Given the description of an element on the screen output the (x, y) to click on. 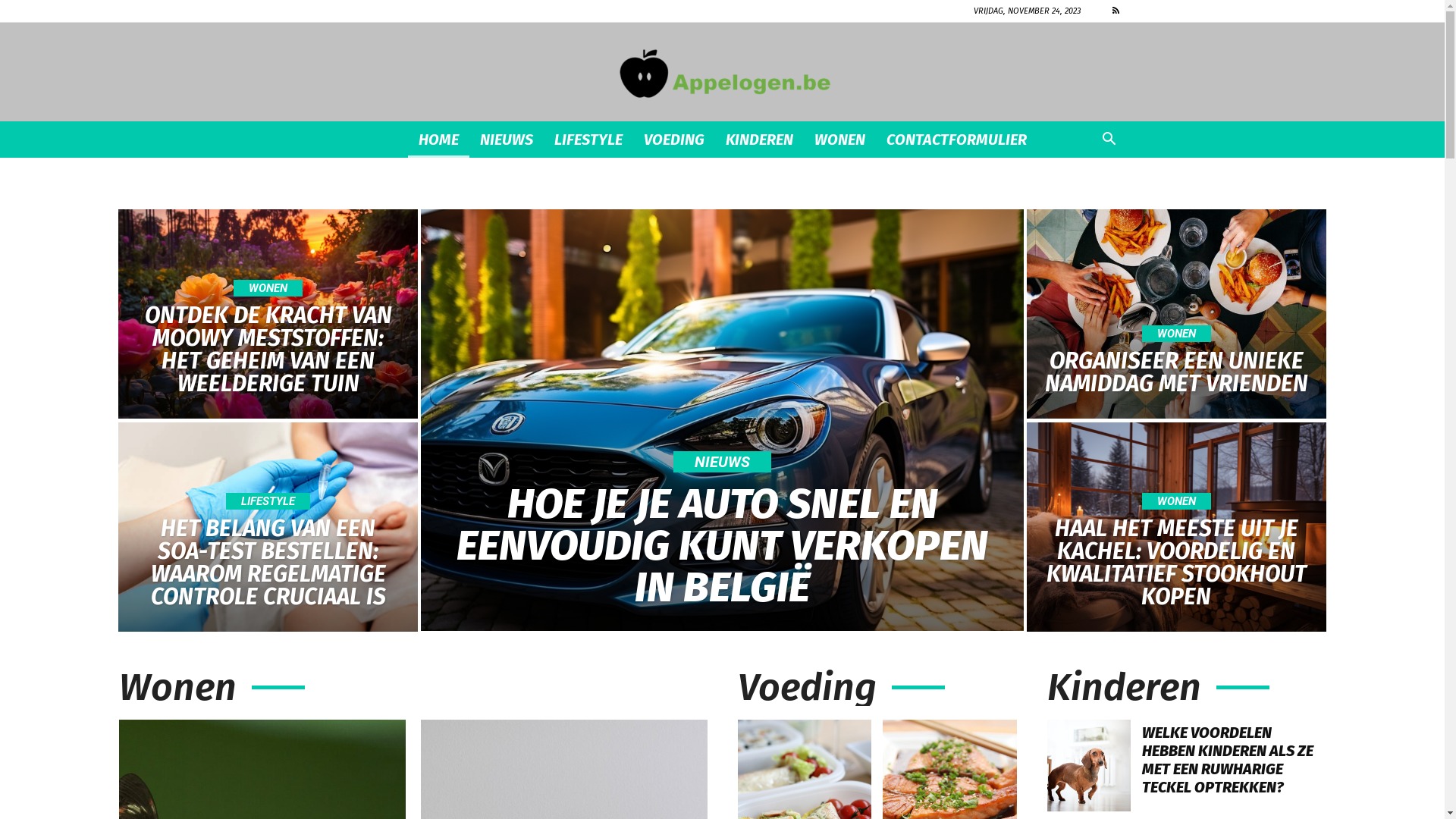
WONEN Element type: text (1176, 500)
KINDEREN Element type: text (758, 139)
VOEDING Element type: text (673, 139)
WONEN Element type: text (1176, 333)
RSS Element type: hover (1115, 10)
HOME Element type: text (438, 139)
appelogen.be Element type: text (722, 73)
WONEN Element type: text (267, 287)
WONEN Element type: text (839, 139)
Organiseer een unieke namiddag met vrienden Element type: hover (1176, 313)
LIFESTYLE Element type: text (587, 139)
ORGANISEER EEN UNIEKE NAMIDDAG MET VRIENDEN Element type: text (1176, 372)
CONTACTFORMULIER Element type: text (955, 139)
Zoek Element type: text (1086, 200)
NIEUWS Element type: text (505, 139)
NIEUWS Element type: text (722, 461)
LIFESTYLE Element type: text (267, 500)
